Given the description of an element on the screen output the (x, y) to click on. 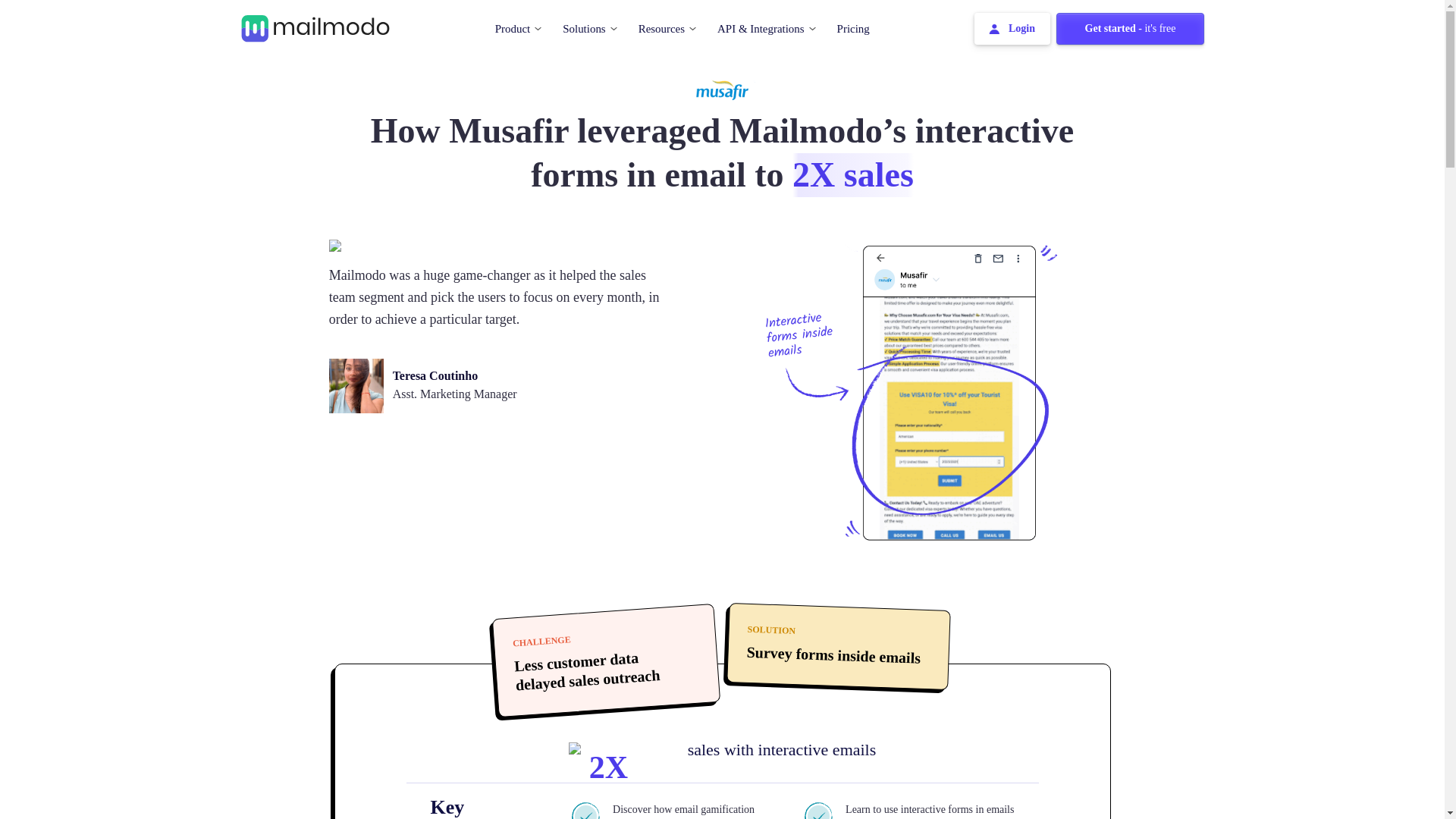
chevron-down (613, 27)
header-logo (315, 28)
Home Page (315, 26)
chevron-down (537, 27)
